Given the description of an element on the screen output the (x, y) to click on. 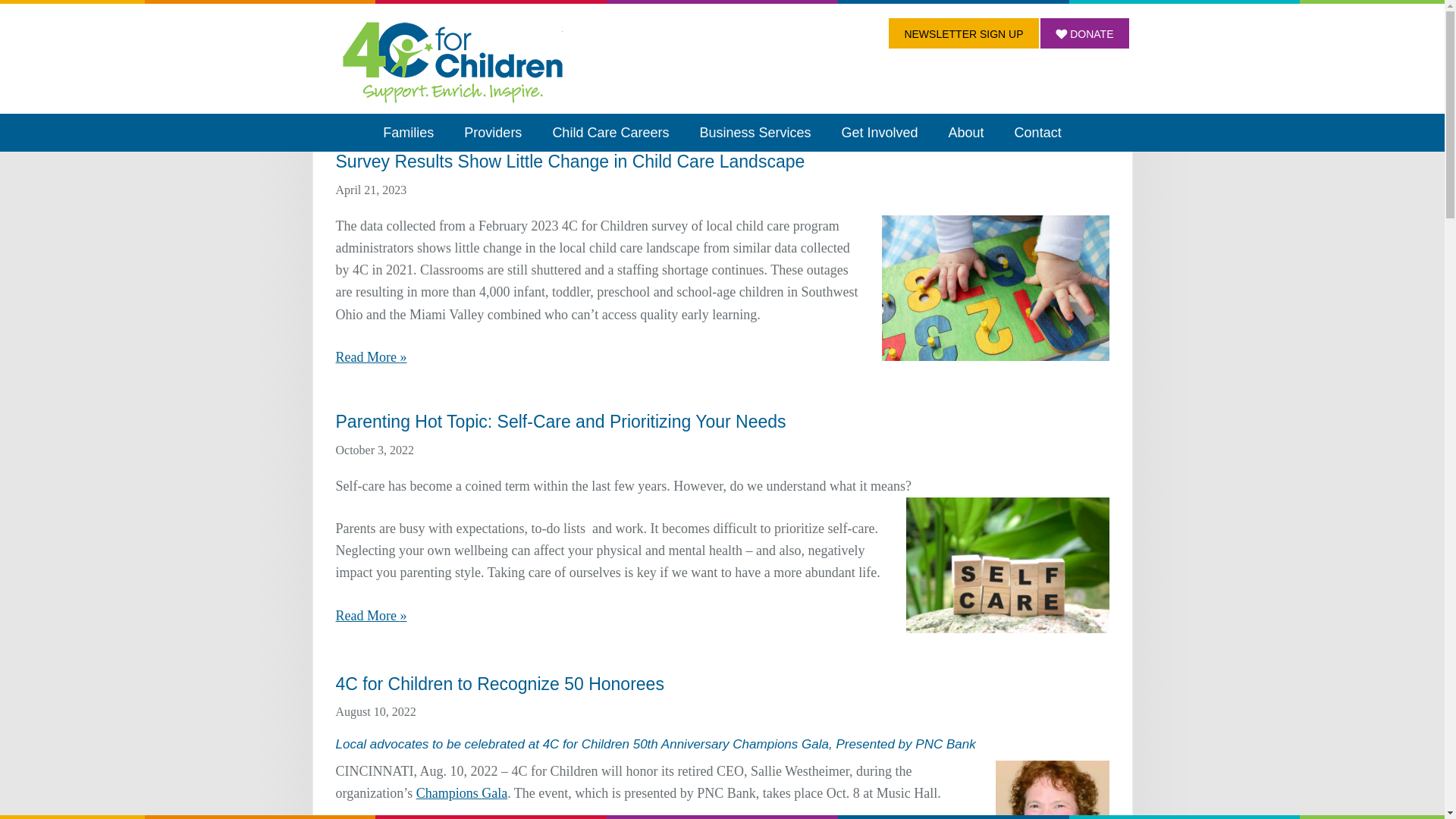
DONATE (1085, 33)
Providers (492, 132)
4C for Children (452, 61)
Families (408, 132)
NEWSLETTER SIGN UP (963, 33)
